Given the description of an element on the screen output the (x, y) to click on. 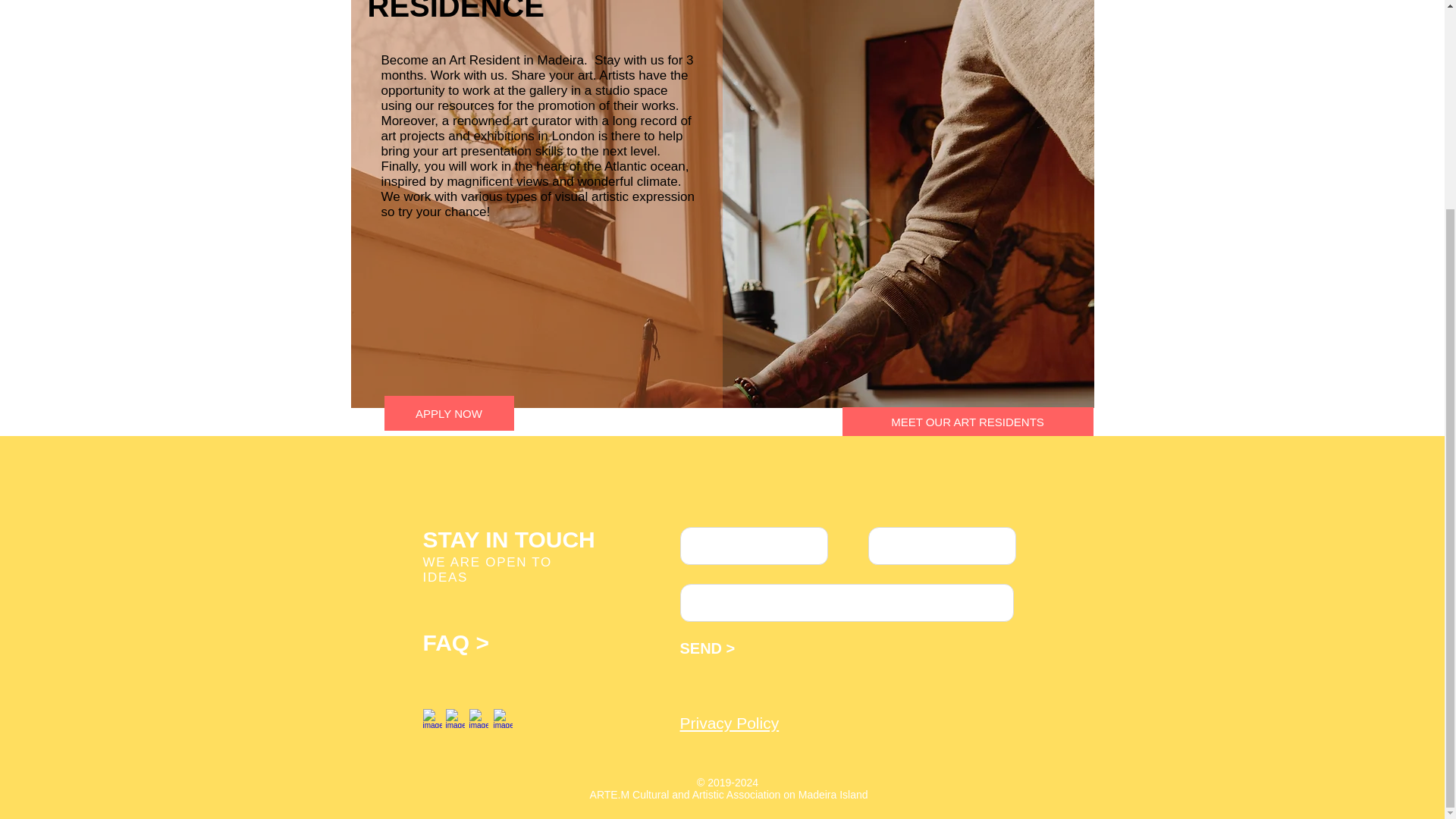
Privacy Policy (728, 723)
MEET OUR ART RESIDENTS (967, 421)
APPLY NOW (448, 412)
